Given the description of an element on the screen output the (x, y) to click on. 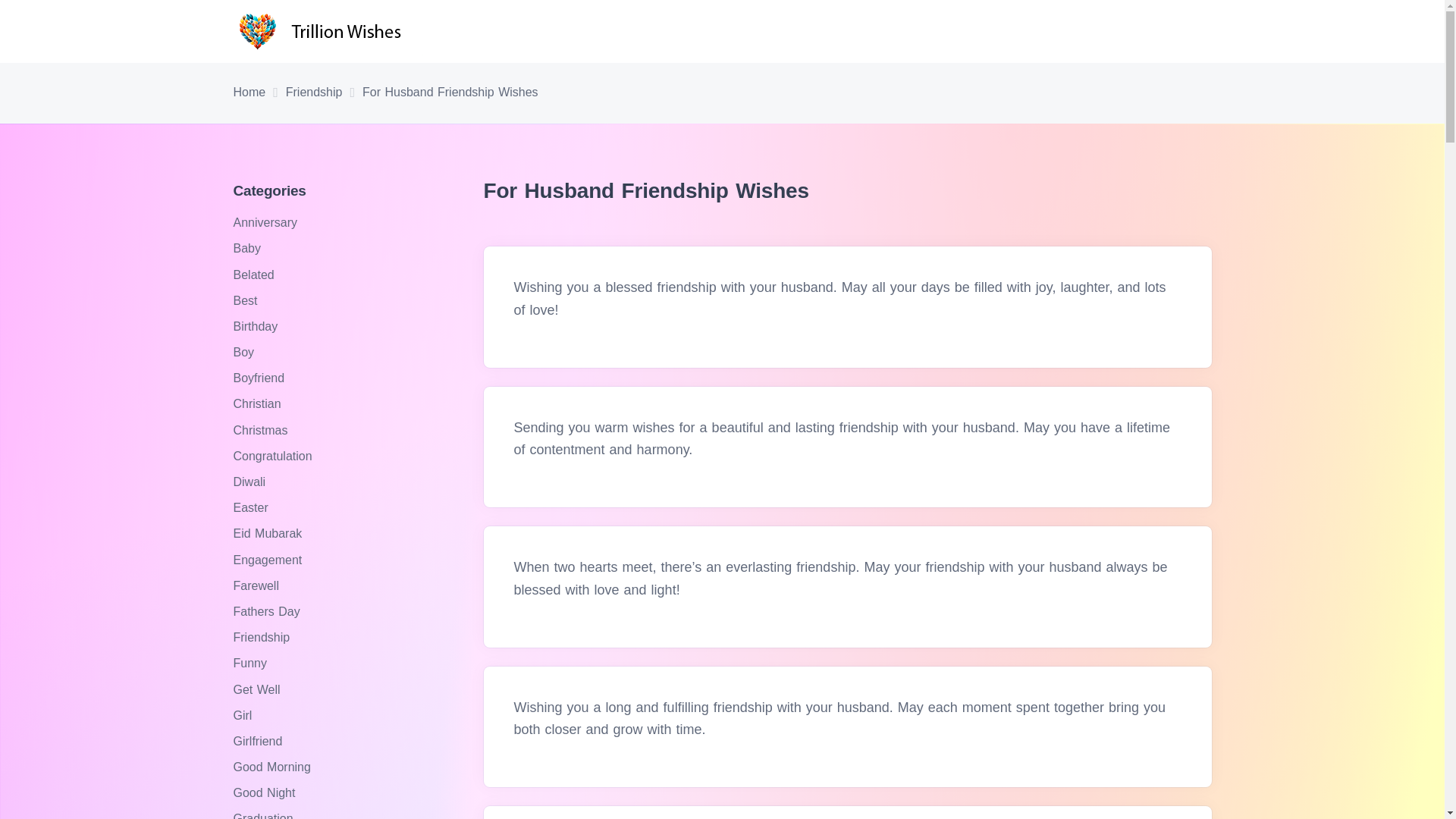
Boy (245, 351)
Get Well (257, 689)
Baby (248, 247)
Friendship (313, 92)
Anniversary (266, 222)
Best (247, 300)
Christmas (262, 430)
Eid Mubarak (268, 533)
Birthday (257, 326)
Congratulation (273, 455)
